Given the description of an element on the screen output the (x, y) to click on. 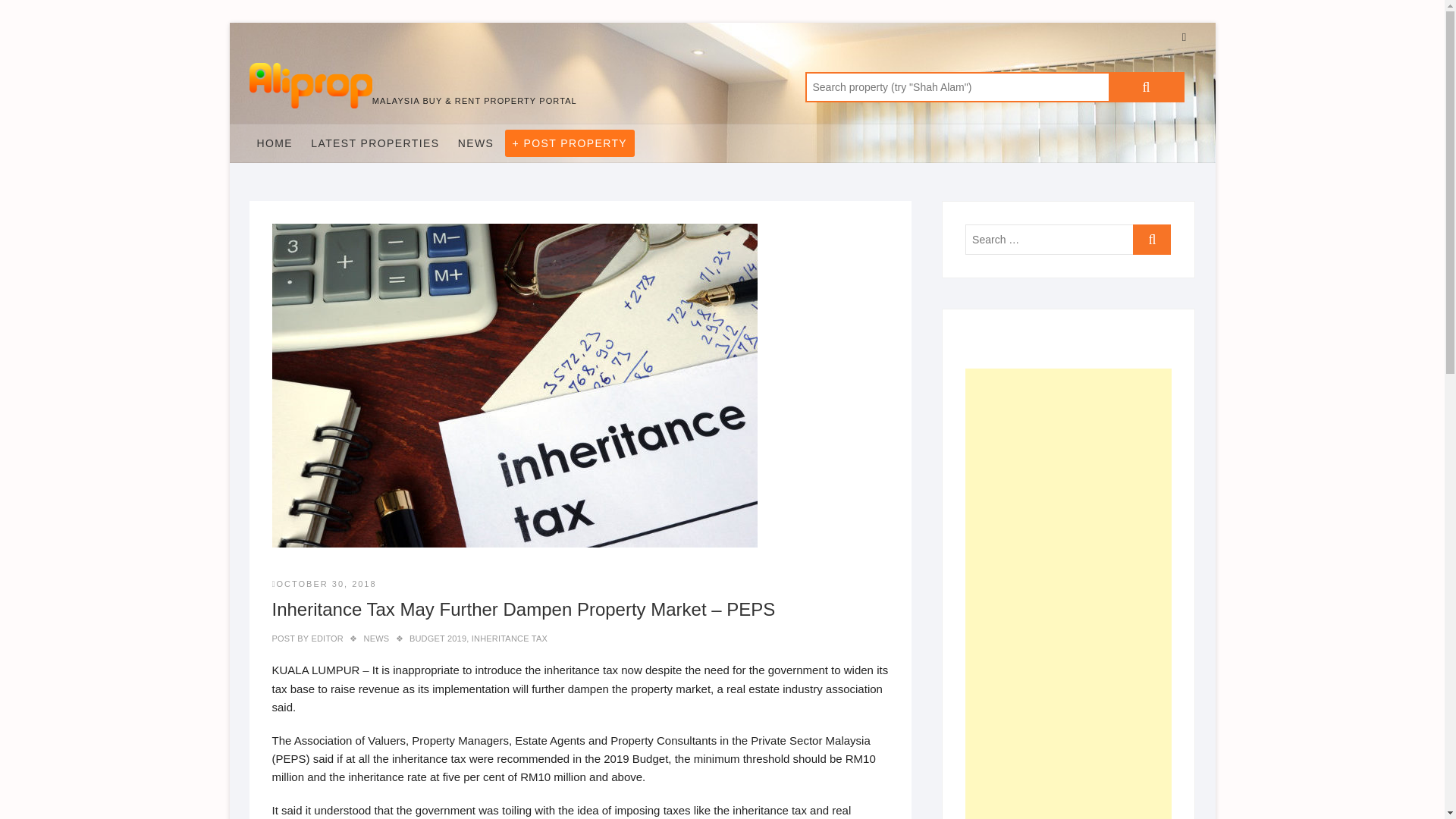
Facebook (1183, 36)
BUDGET 2019 (437, 637)
NEWS (475, 143)
5:16 pm (322, 583)
LATEST PROPERTIES (374, 143)
Search (1146, 87)
EDITOR (325, 637)
OCTOBER 30, 2018 (322, 583)
HOME (273, 143)
INHERITANCE TAX (509, 637)
NEWS (377, 637)
